Given the description of an element on the screen output the (x, y) to click on. 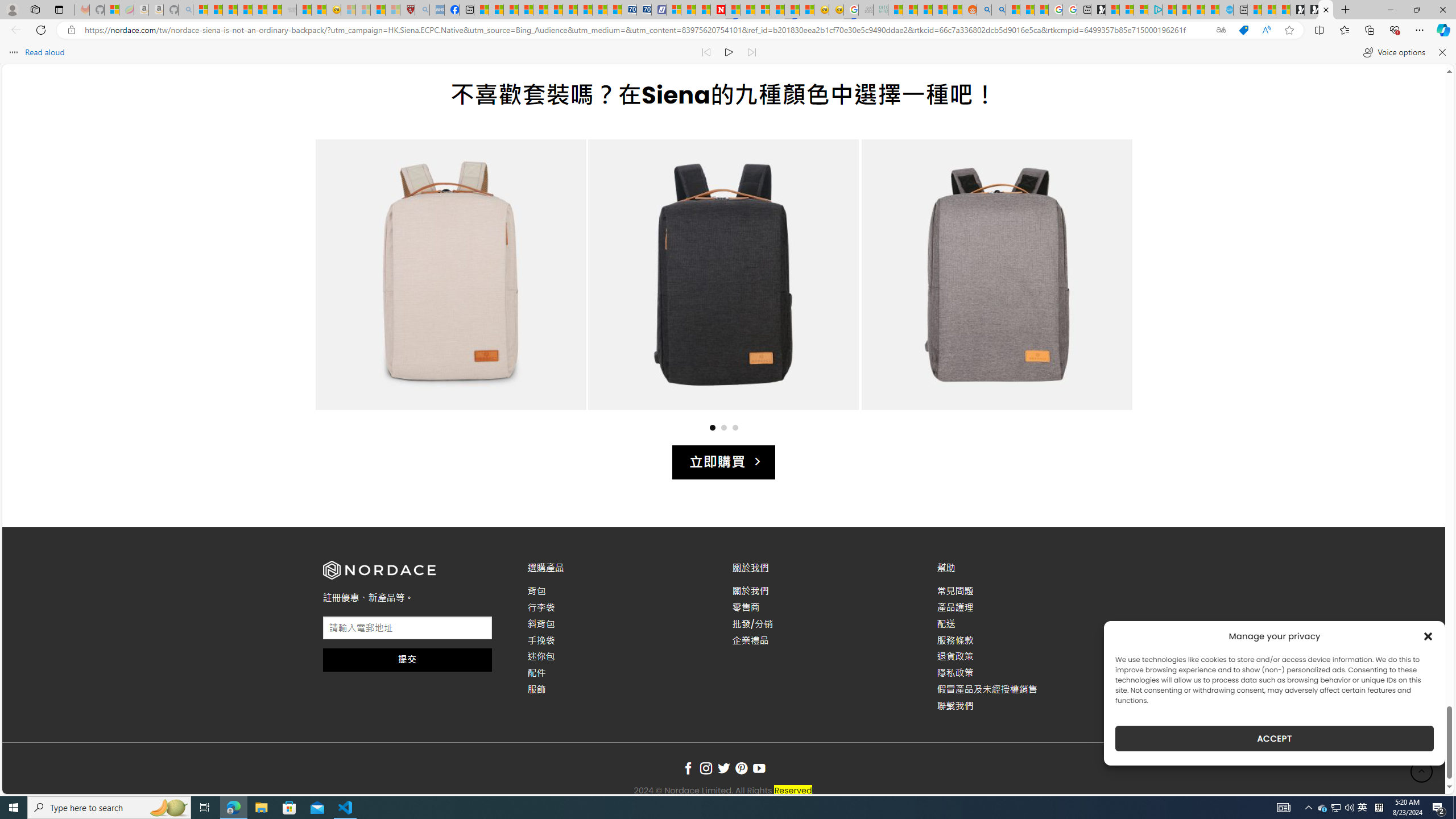
12 Popular Science Lies that Must be Corrected - Sleeping (392, 9)
Show translate options (1220, 29)
DITOGAMES AG Imprint - Sleeping (879, 9)
Class: flickity-button-icon (1102, 285)
